Given the description of an element on the screen output the (x, y) to click on. 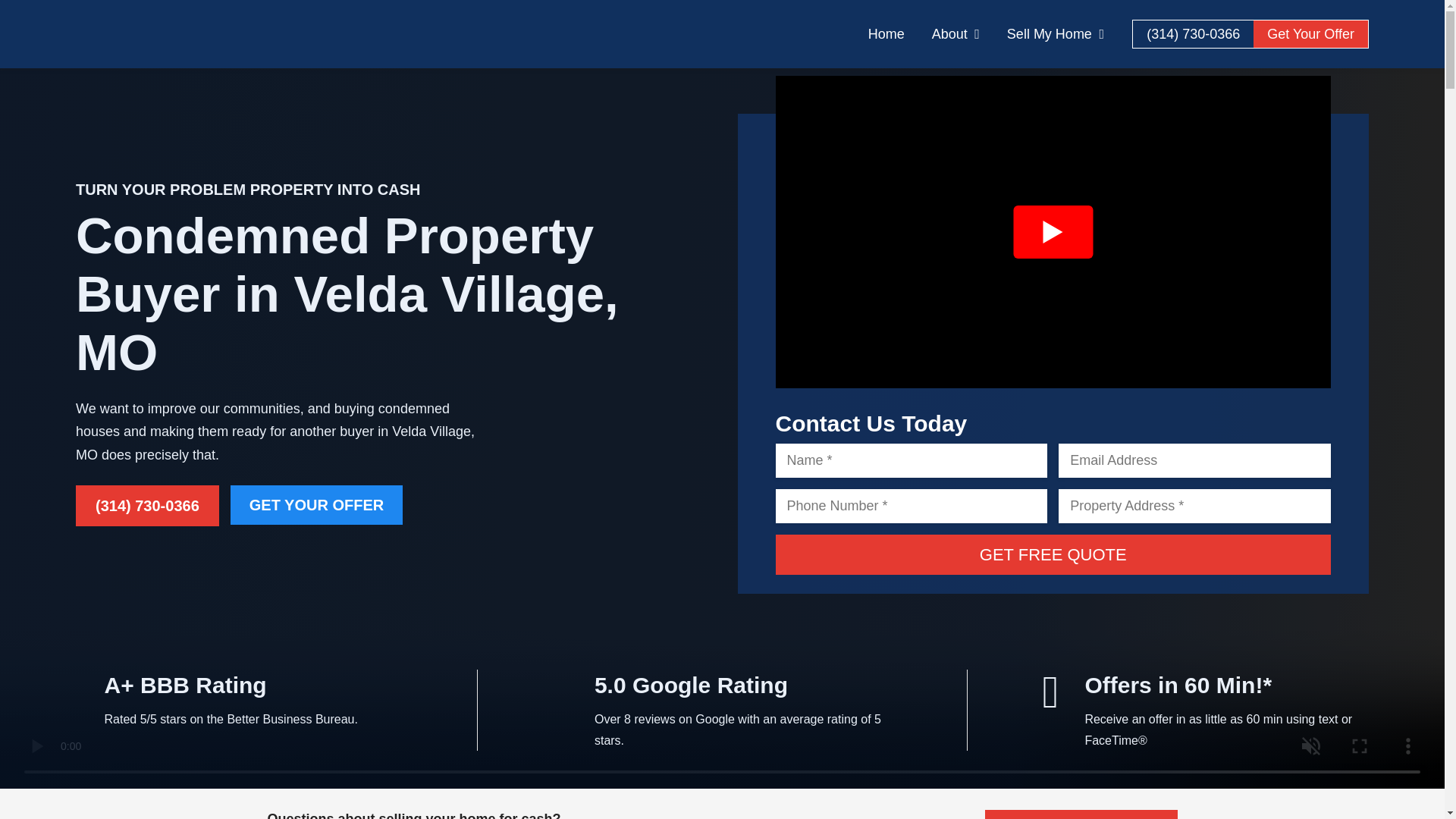
Get Your Offer (1310, 33)
GET YOUR OFFER (316, 504)
Sell My Home (1055, 33)
About (955, 33)
Get Free Quote (1052, 554)
VIEW ALL ANSWERS (1080, 814)
Get Free Quote (1052, 554)
Home (886, 33)
